Given the description of an element on the screen output the (x, y) to click on. 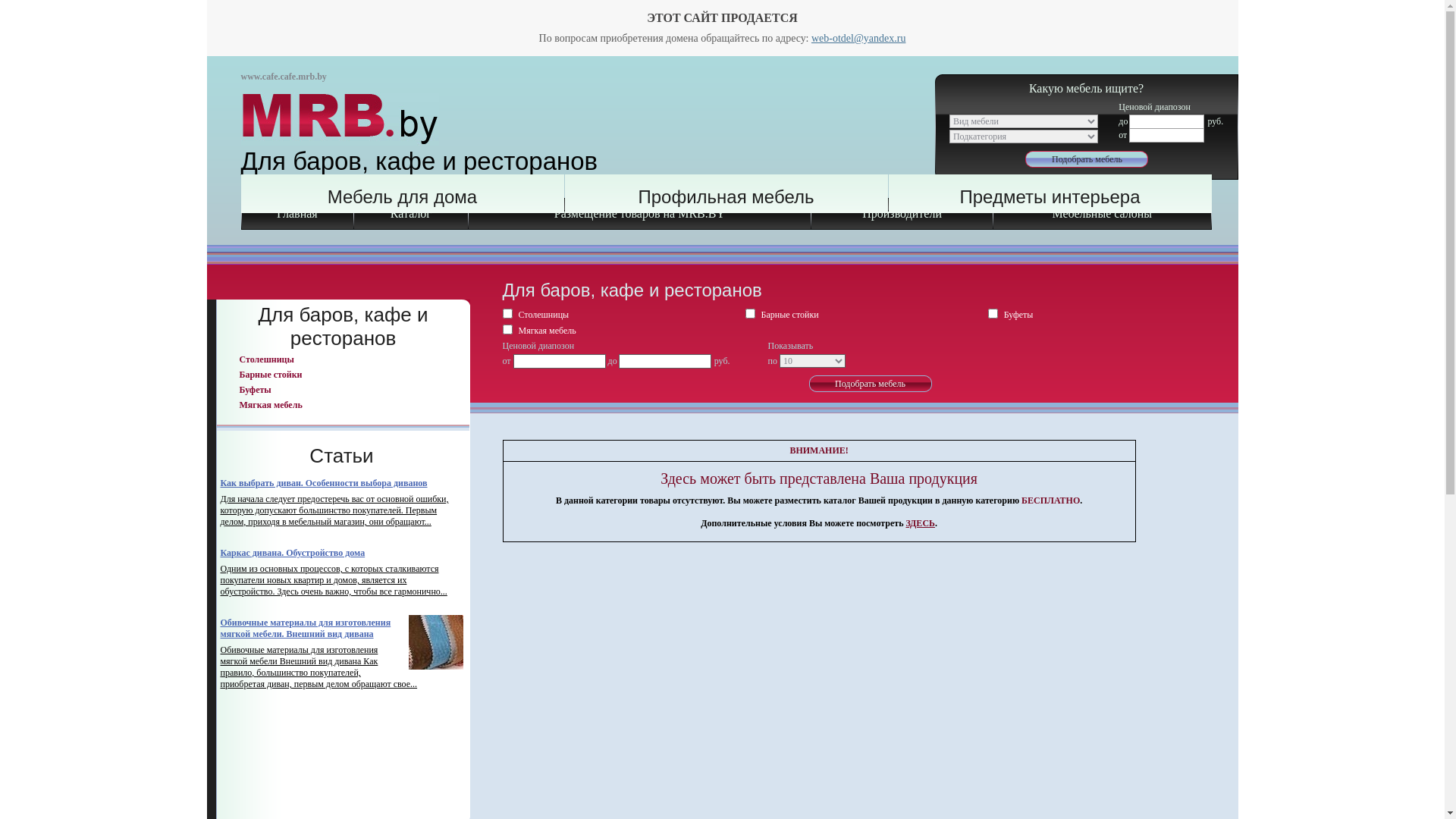
web-otdel@yandex.ru Element type: text (858, 37)
